Given the description of an element on the screen output the (x, y) to click on. 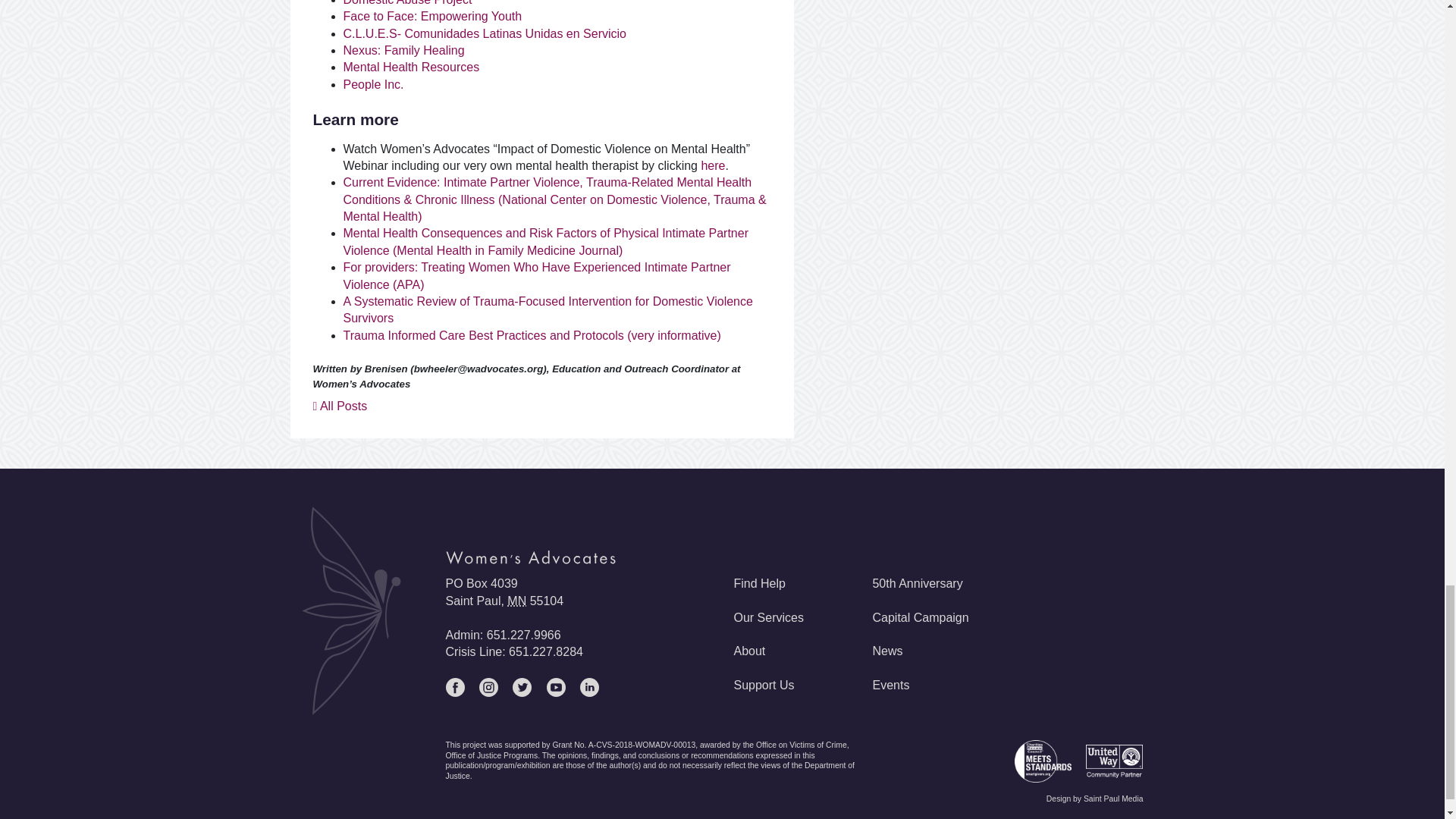
Instagram (488, 692)
Twitter (521, 692)
Minnesota (515, 600)
YouTube (556, 692)
LinkedIn (588, 692)
Facebook (454, 692)
